Given the description of an element on the screen output the (x, y) to click on. 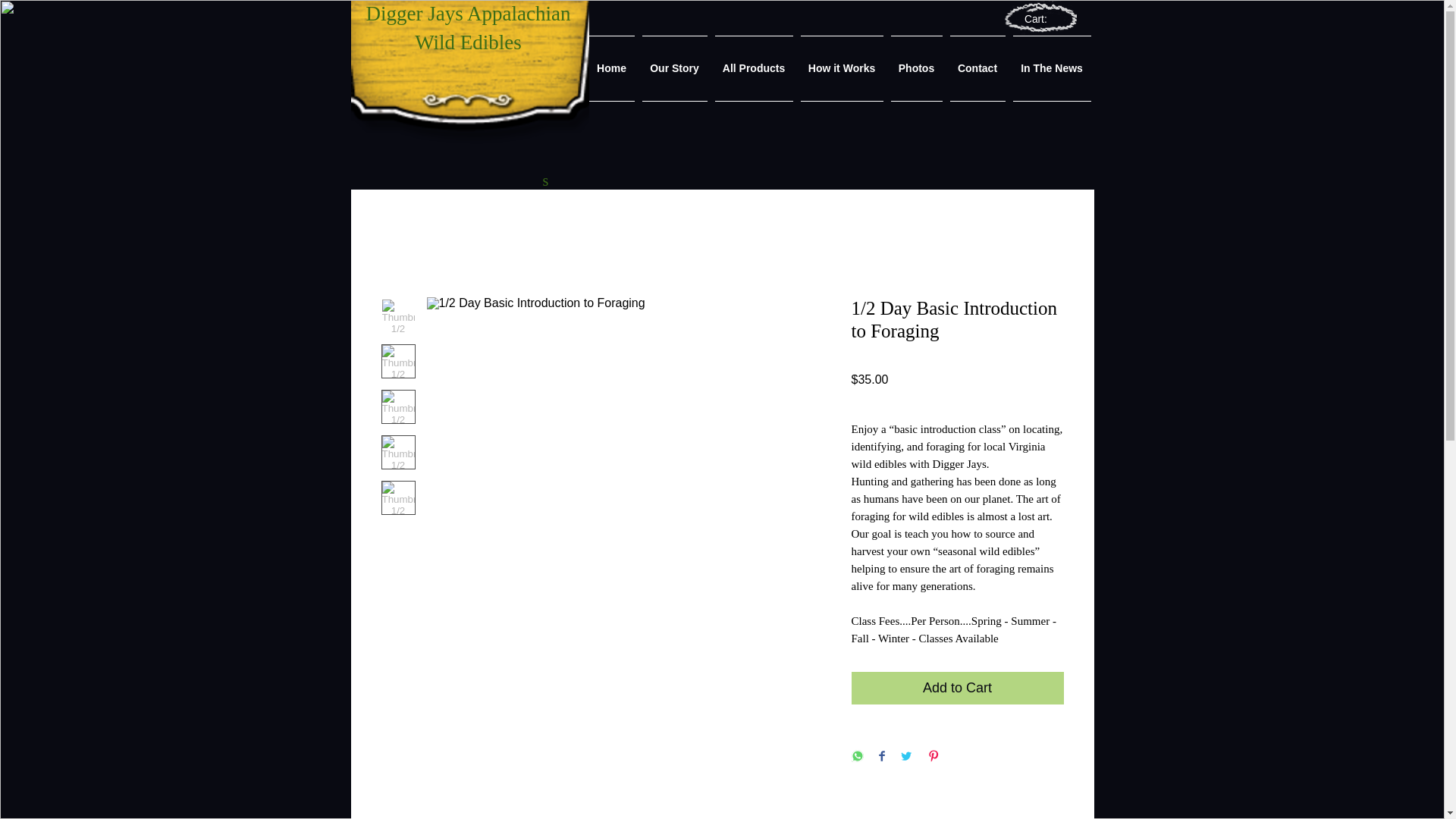
Our Story (675, 68)
Cart: (1042, 19)
Cart: (1042, 19)
Photos (916, 68)
How it Works (841, 68)
Contact (977, 68)
All Products (753, 68)
Add to Cart (956, 687)
In The News (1049, 68)
